Given the description of an element on the screen output the (x, y) to click on. 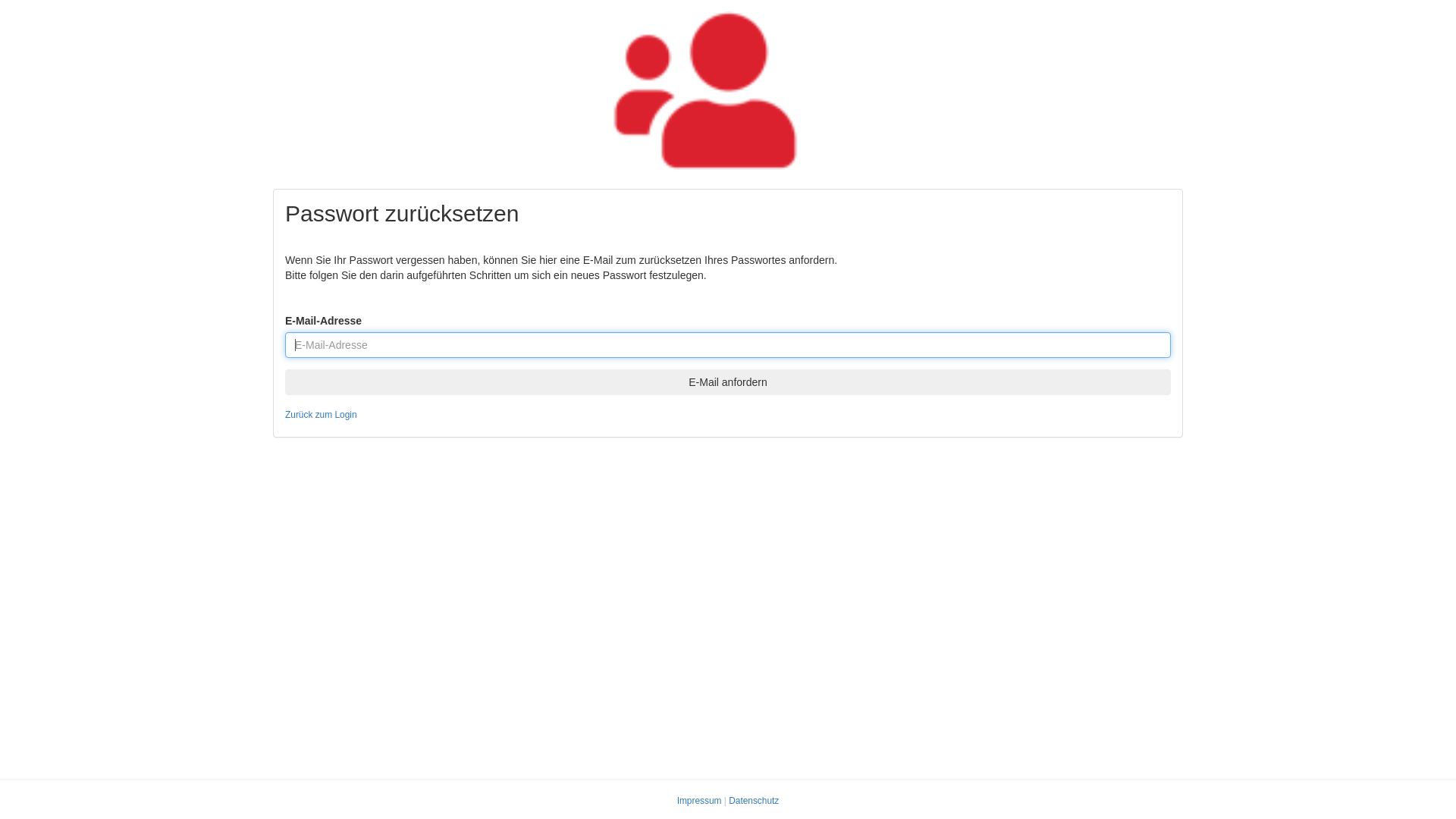
Impressum Element type: text (699, 800)
E-Mail anfordern Element type: text (727, 382)
Datenschutz Element type: text (753, 800)
